Given the description of an element on the screen output the (x, y) to click on. 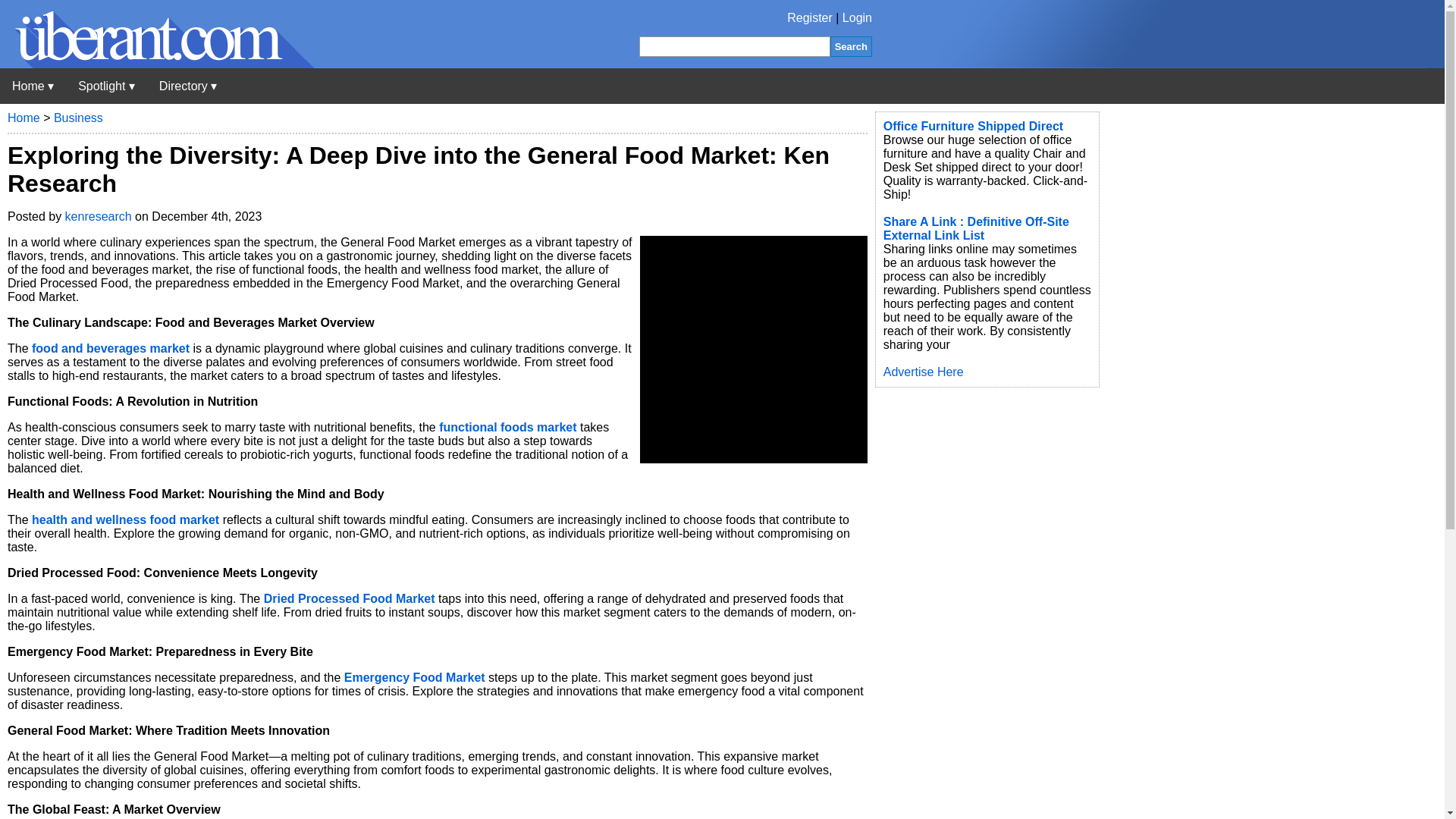
Register (809, 17)
Search (850, 46)
Uberant (32, 85)
Uberant (157, 63)
Login (857, 17)
Search (850, 46)
